Given the description of an element on the screen output the (x, y) to click on. 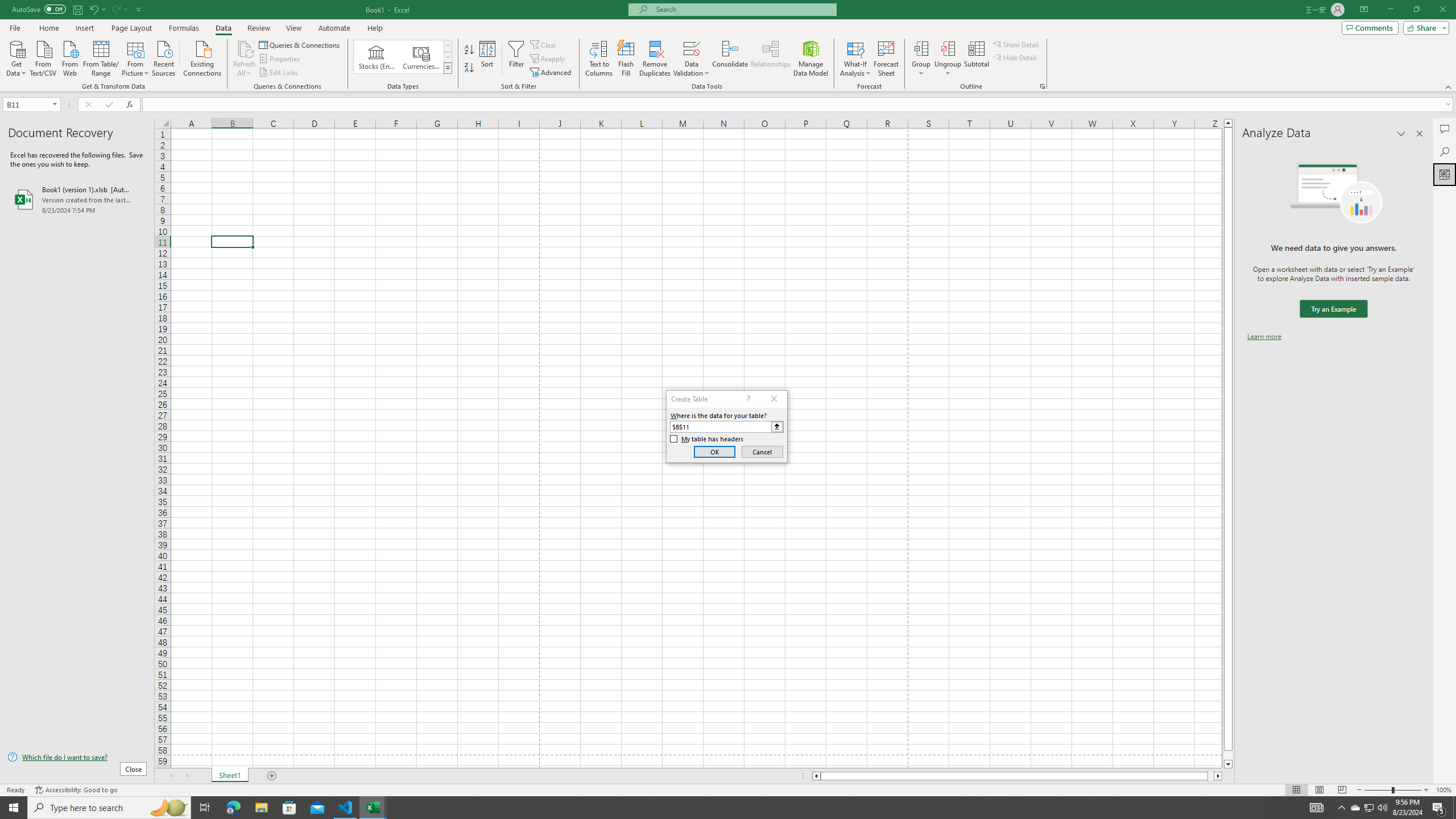
Properties (280, 58)
Edit Links (279, 72)
Forecast Sheet (885, 58)
